Given the description of an element on the screen output the (x, y) to click on. 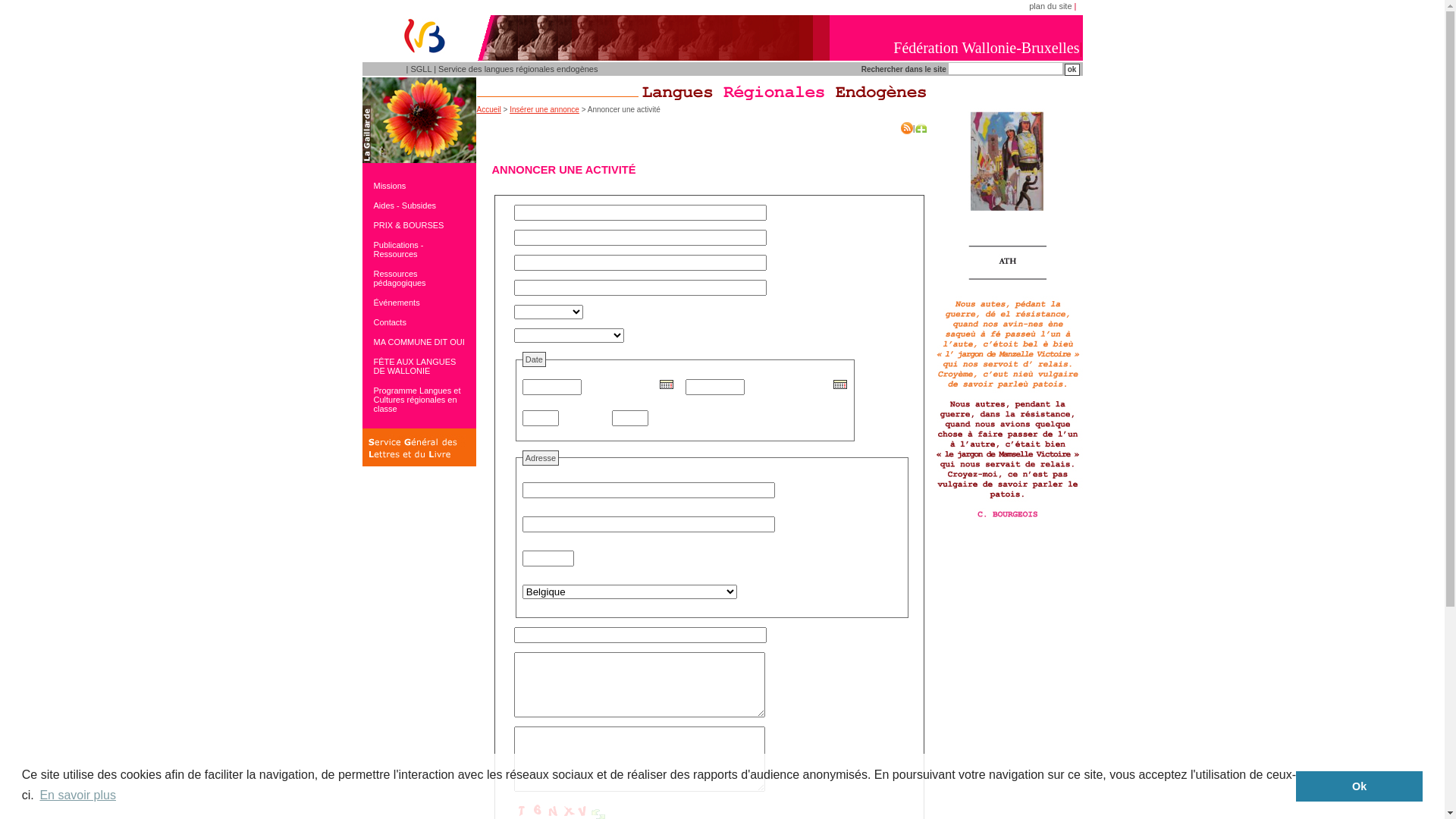
Missions Element type: text (415, 185)
rechercher Element type: hover (1071, 69)
Aides - Subsides Element type: text (415, 205)
En savoir plus Element type: text (77, 795)
MA COMMUNE DIT OUI Element type: text (415, 341)
plan du site Element type: text (1050, 5)
PRIX & BOURSES Element type: text (415, 224)
ok Element type: text (1071, 69)
Contacts Element type: text (415, 321)
Plus de choix Element type: hover (919, 127)
Ok Element type: text (1358, 786)
Ath.jpg Element type: hover (1006, 317)
Publications - Ressources Element type: text (415, 249)
Accueil Element type: text (488, 109)
Image d'illustration Element type: hover (419, 120)
